Given the description of an element on the screen output the (x, y) to click on. 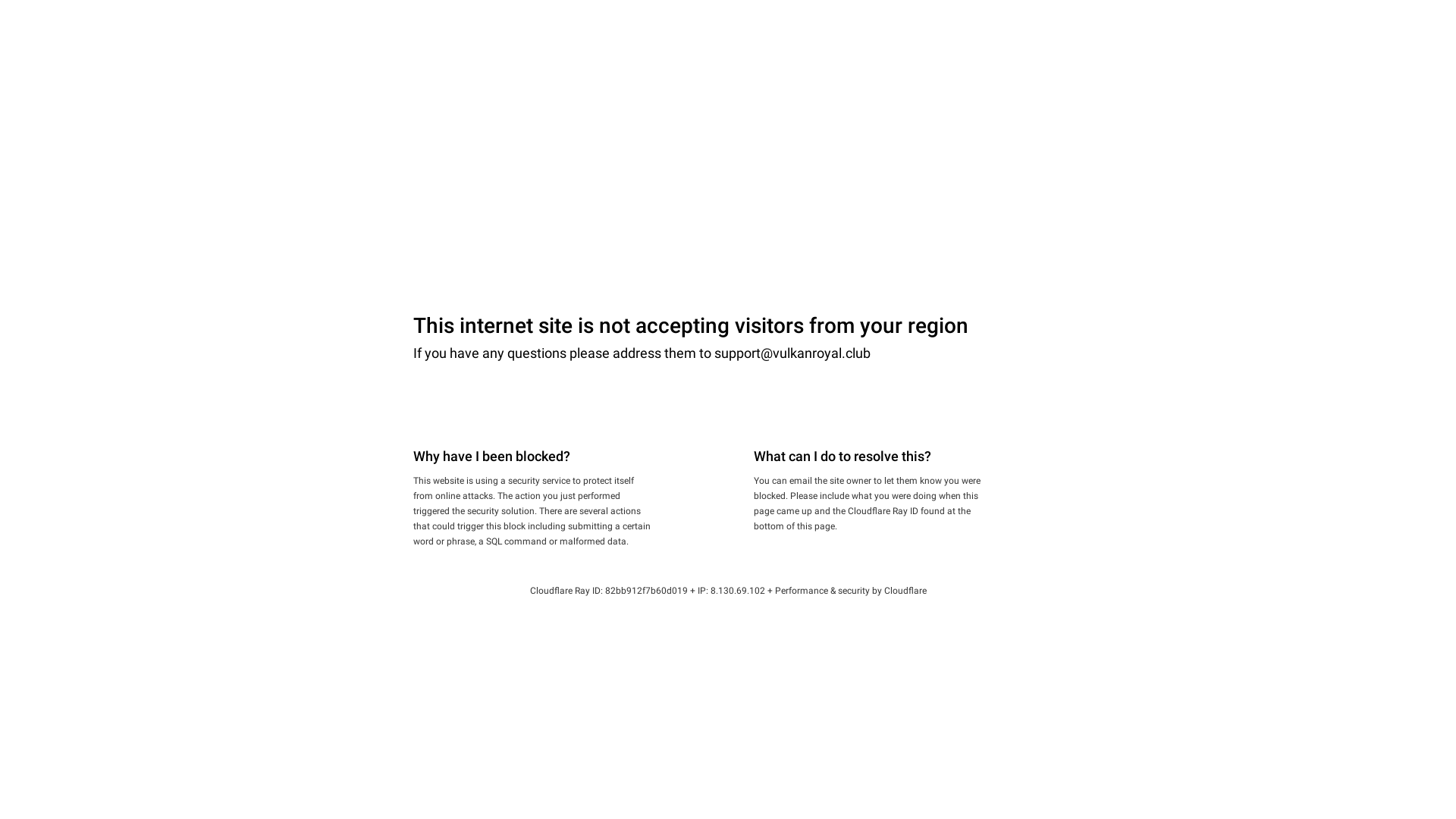
Cloudflare Element type: text (905, 590)
